Given the description of an element on the screen output the (x, y) to click on. 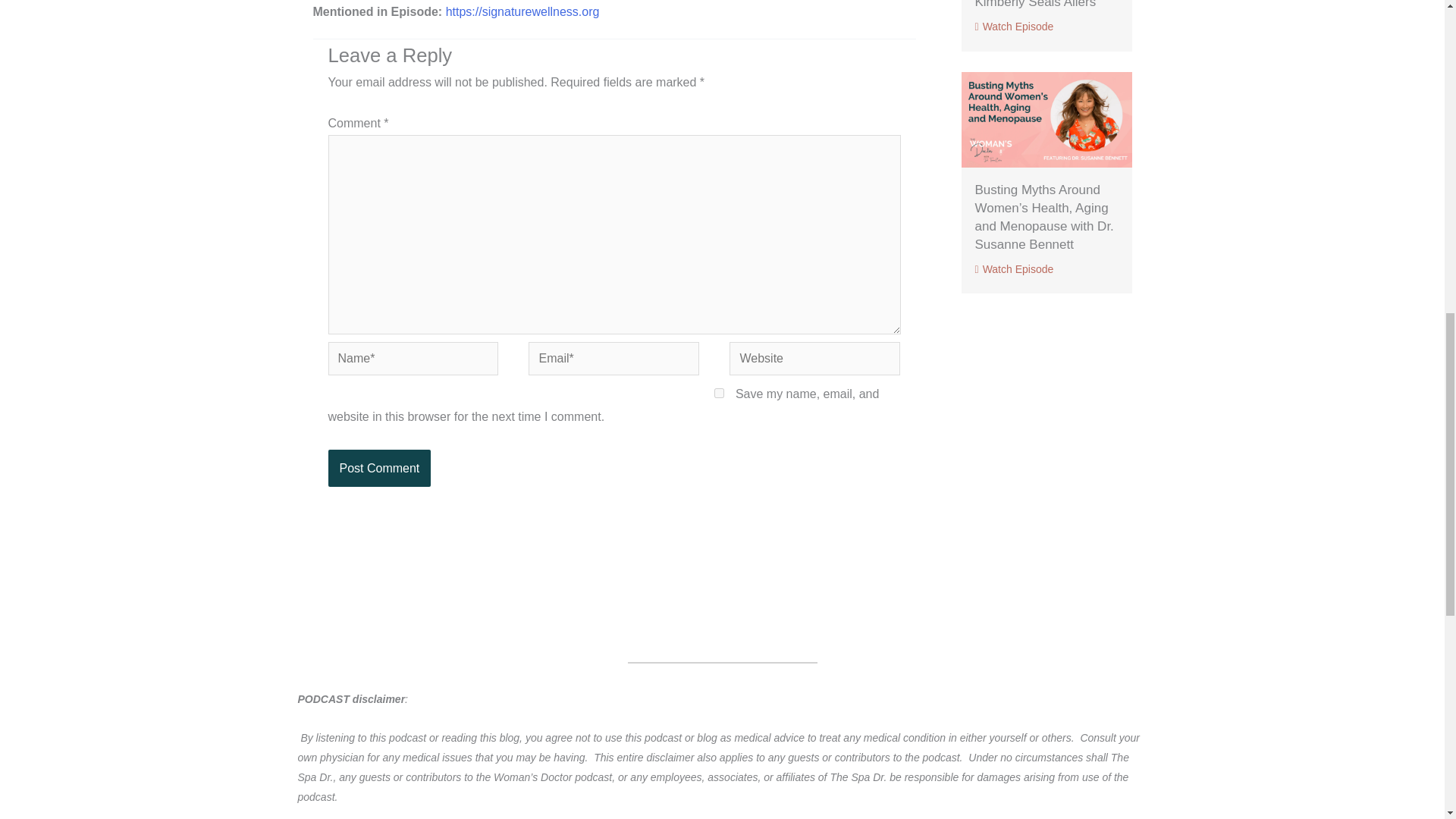
Post Comment (378, 468)
Watch Episode (1014, 26)
Watch Episode (1014, 269)
Post Comment (378, 468)
yes (718, 393)
